Given the description of an element on the screen output the (x, y) to click on. 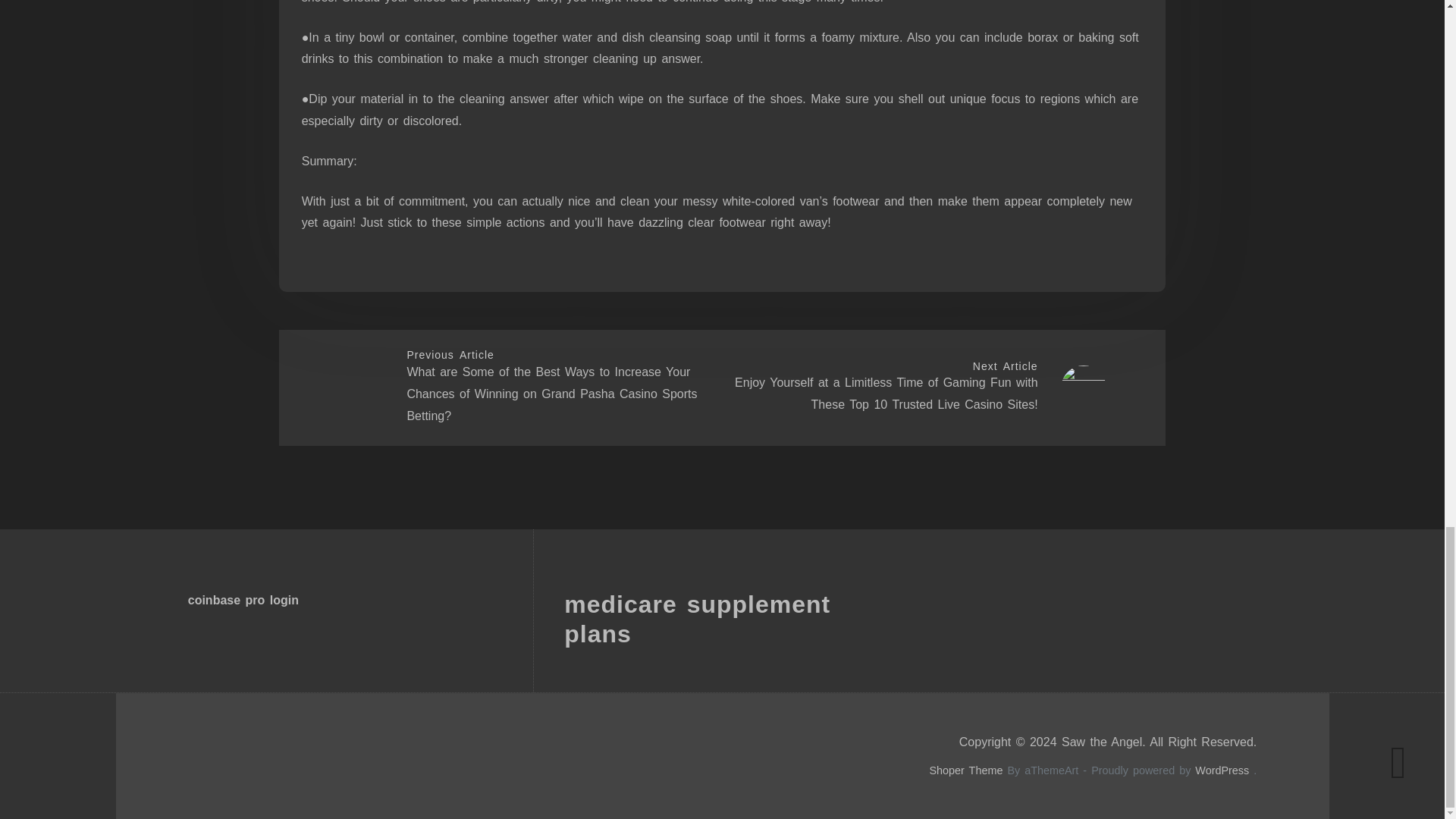
WordPress (1222, 770)
medicare supplement plans (696, 618)
Shoper Theme (965, 770)
coinbase pro login (242, 599)
